Given the description of an element on the screen output the (x, y) to click on. 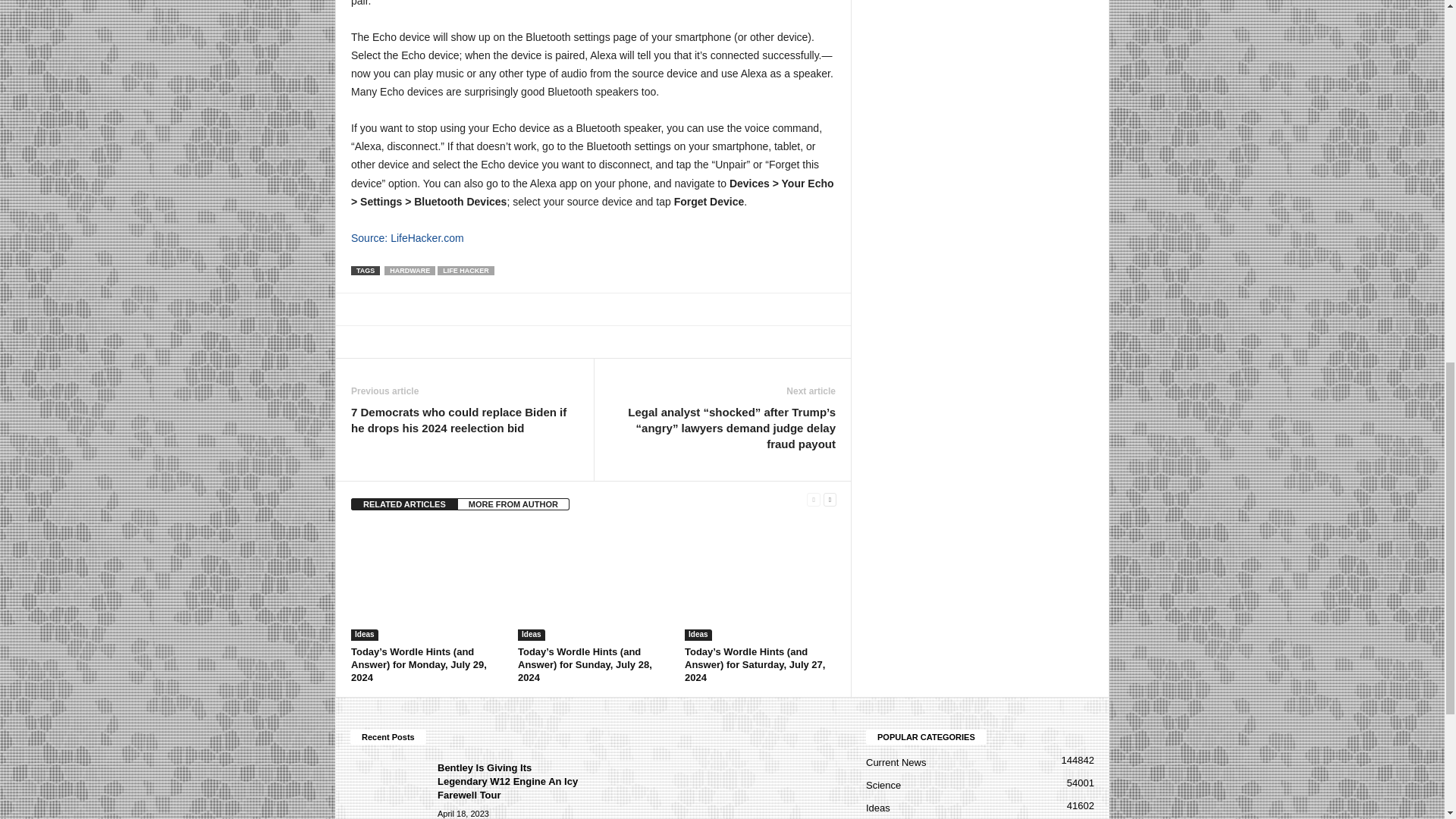
Source: LifeHacker.com (407, 237)
RELATED ARTICLES (404, 503)
Ideas (697, 634)
Ideas (364, 634)
Ideas (531, 634)
LIFE HACKER (466, 270)
MORE FROM AUTHOR (513, 503)
HARDWARE (409, 270)
